Given the description of an element on the screen output the (x, y) to click on. 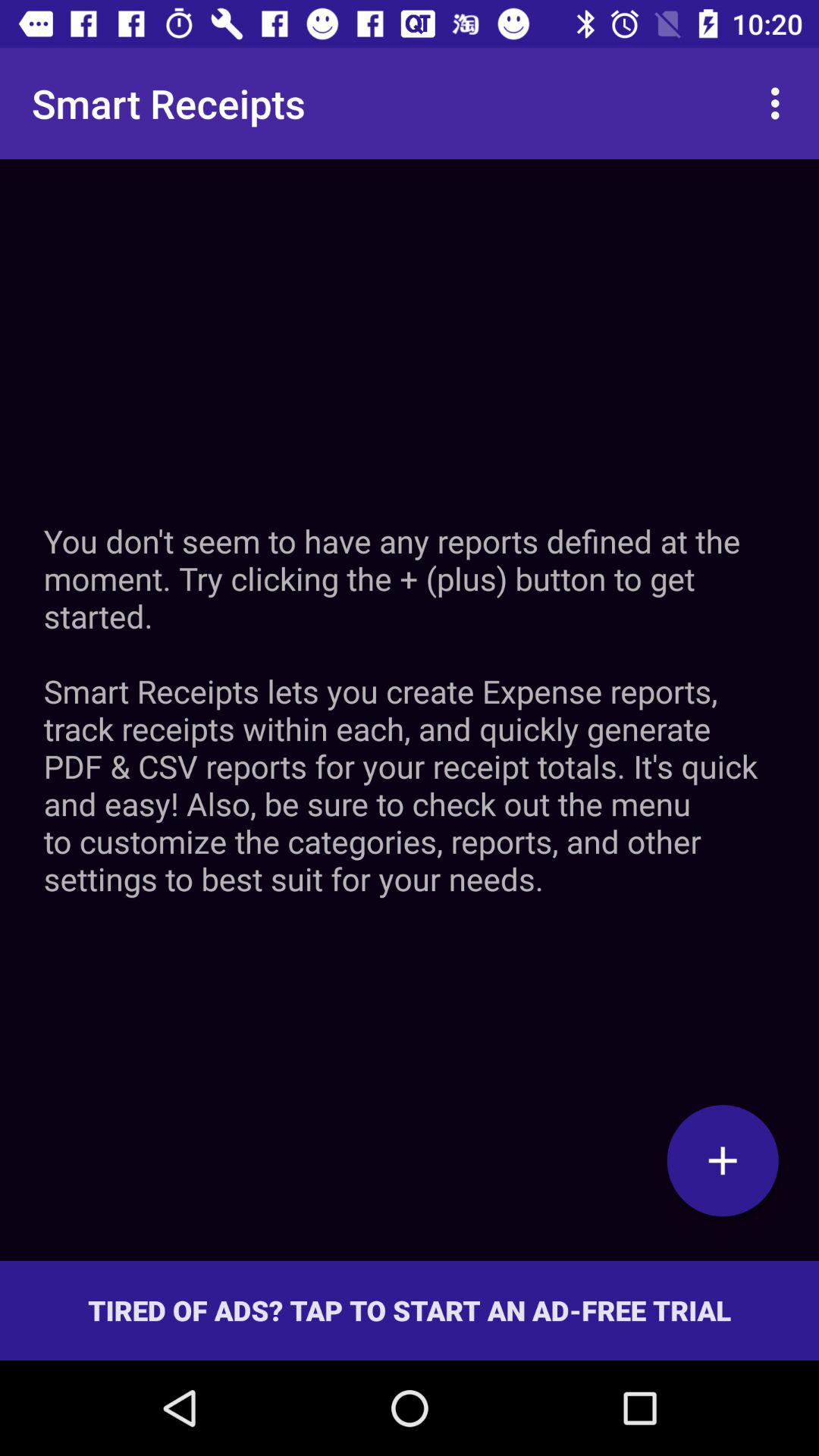
creat new the article (722, 1160)
